Given the description of an element on the screen output the (x, y) to click on. 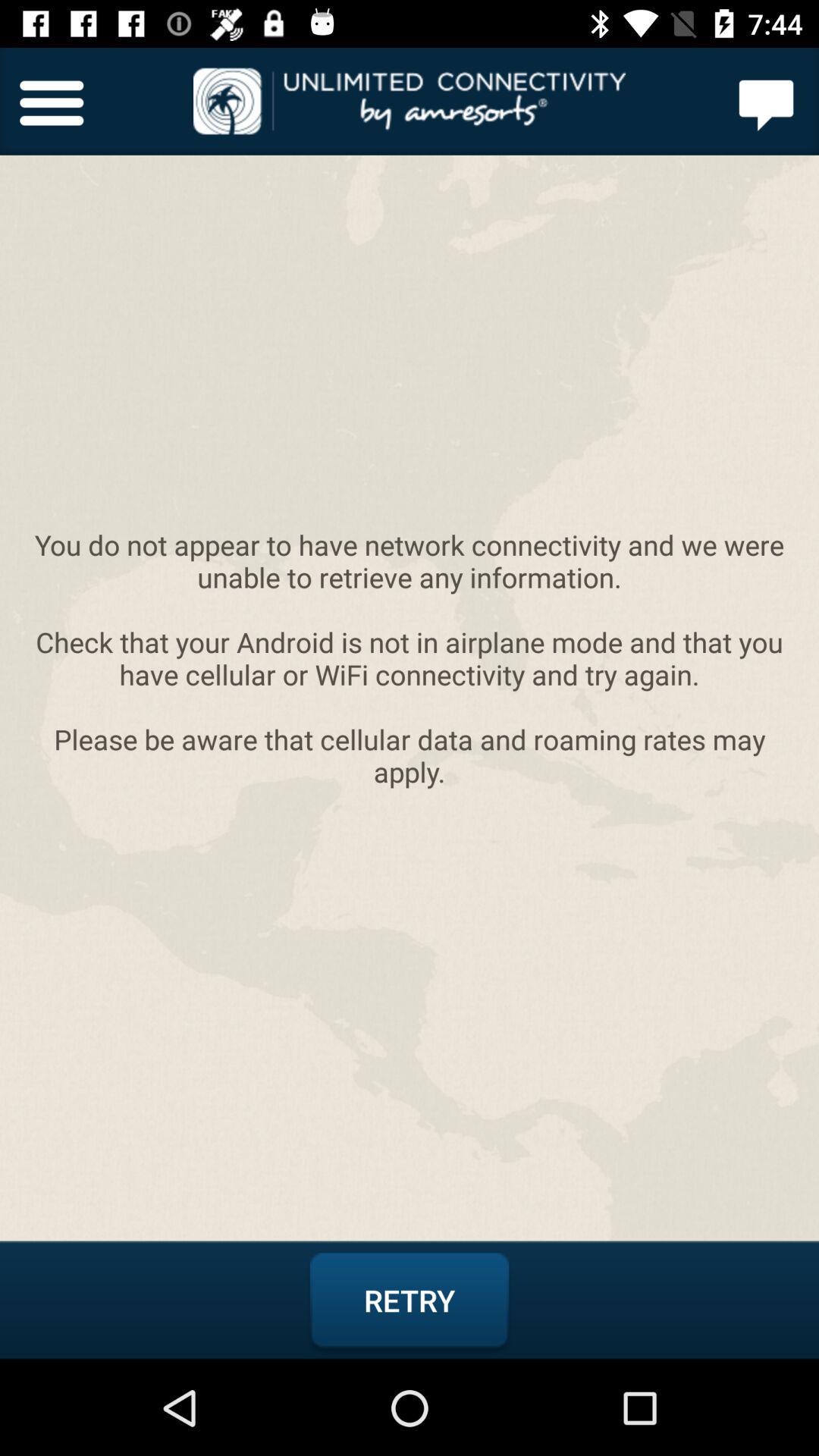
open the item below the you do not icon (409, 1300)
